Given the description of an element on the screen output the (x, y) to click on. 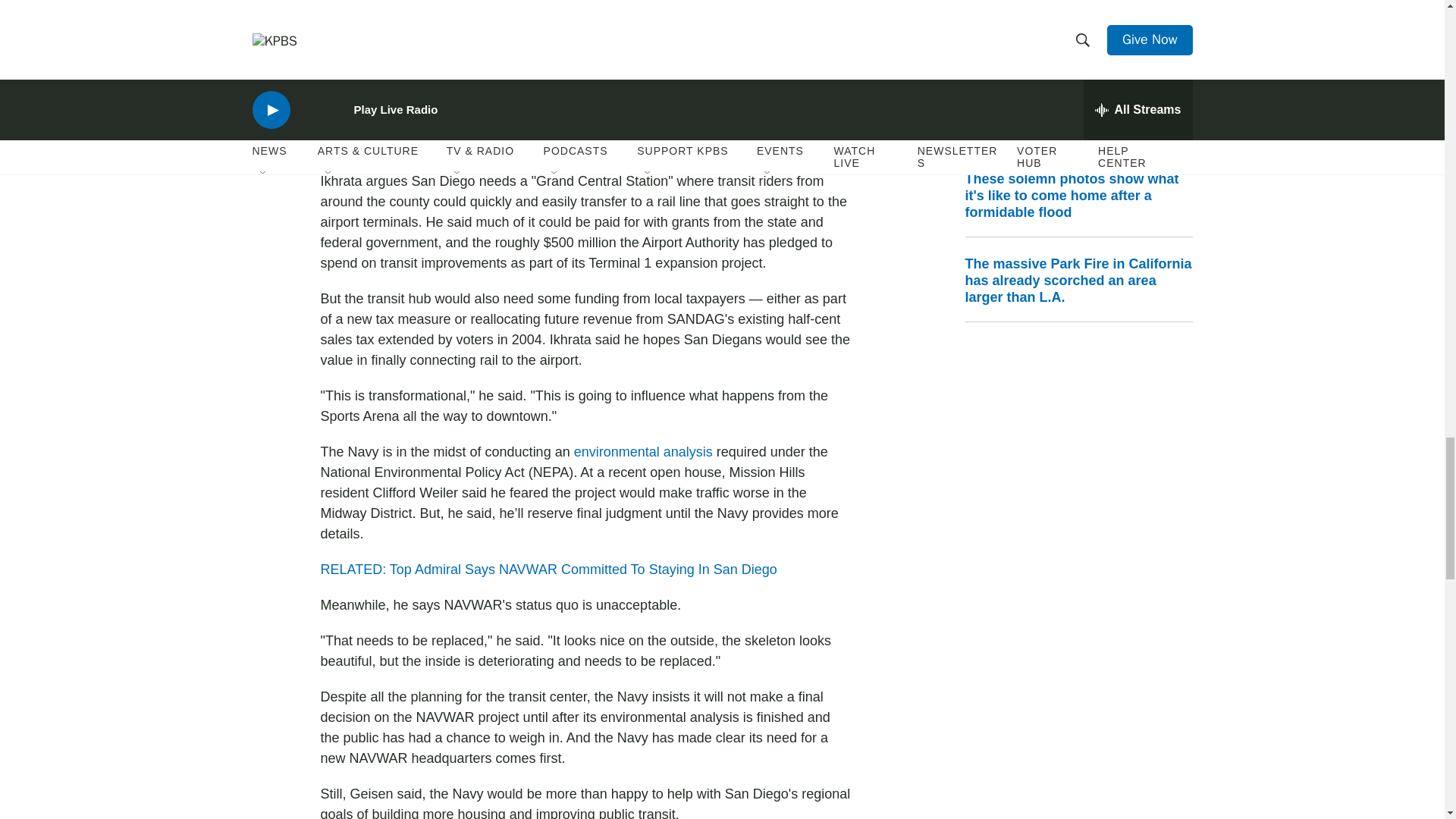
YouTube embedded video player (584, 48)
